Given the description of an element on the screen output the (x, y) to click on. 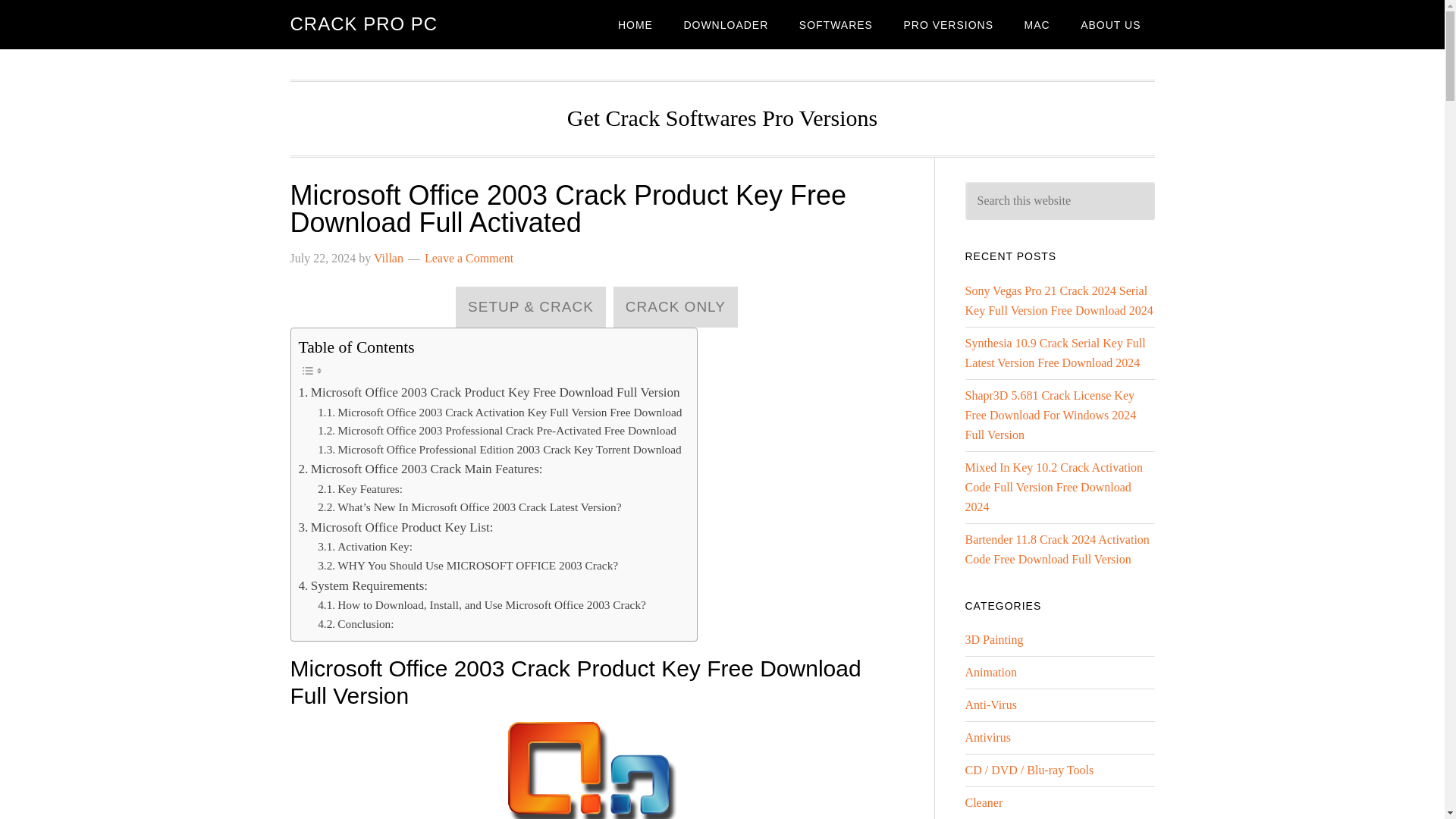
PRO VERSIONS (948, 24)
DOWNLOADER (725, 24)
System Requirements: (363, 585)
Microsoft Office Product Key List: (395, 526)
Leave a Comment (469, 257)
Villan (388, 257)
Conclusion: (355, 624)
Microsoft Office 2003 Crack Main Features: (420, 468)
